Given the description of an element on the screen output the (x, y) to click on. 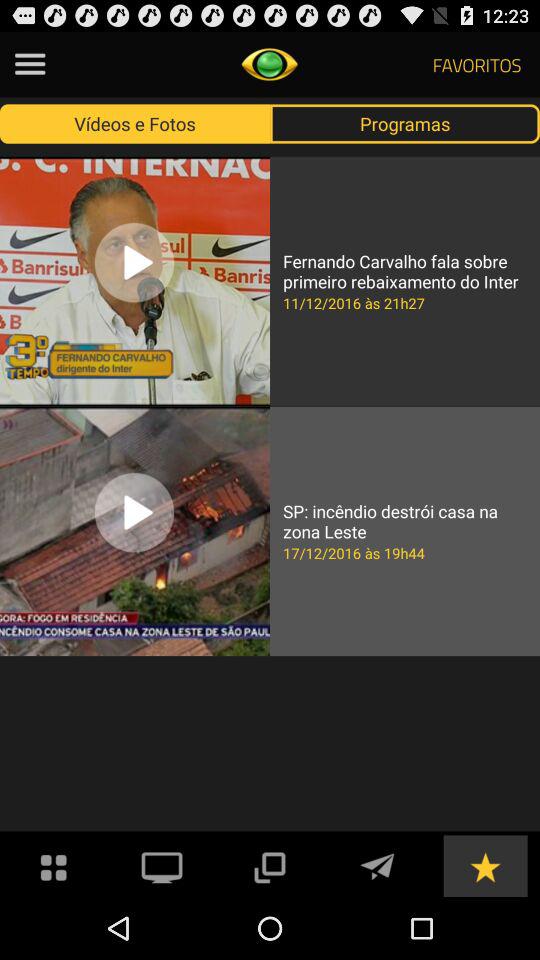
hamburger (29, 64)
